Given the description of an element on the screen output the (x, y) to click on. 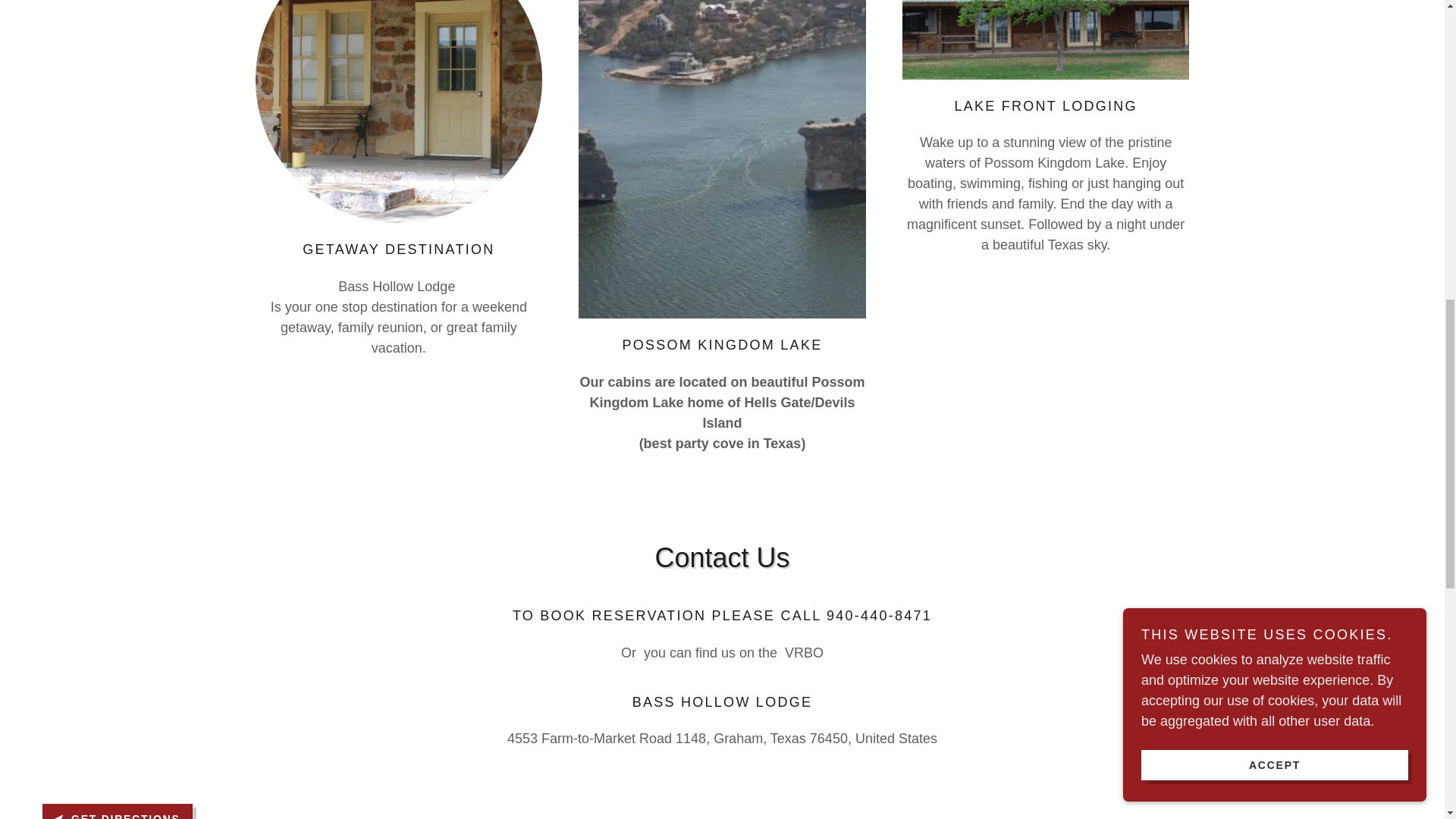
GET DIRECTIONS (117, 811)
